Given the description of an element on the screen output the (x, y) to click on. 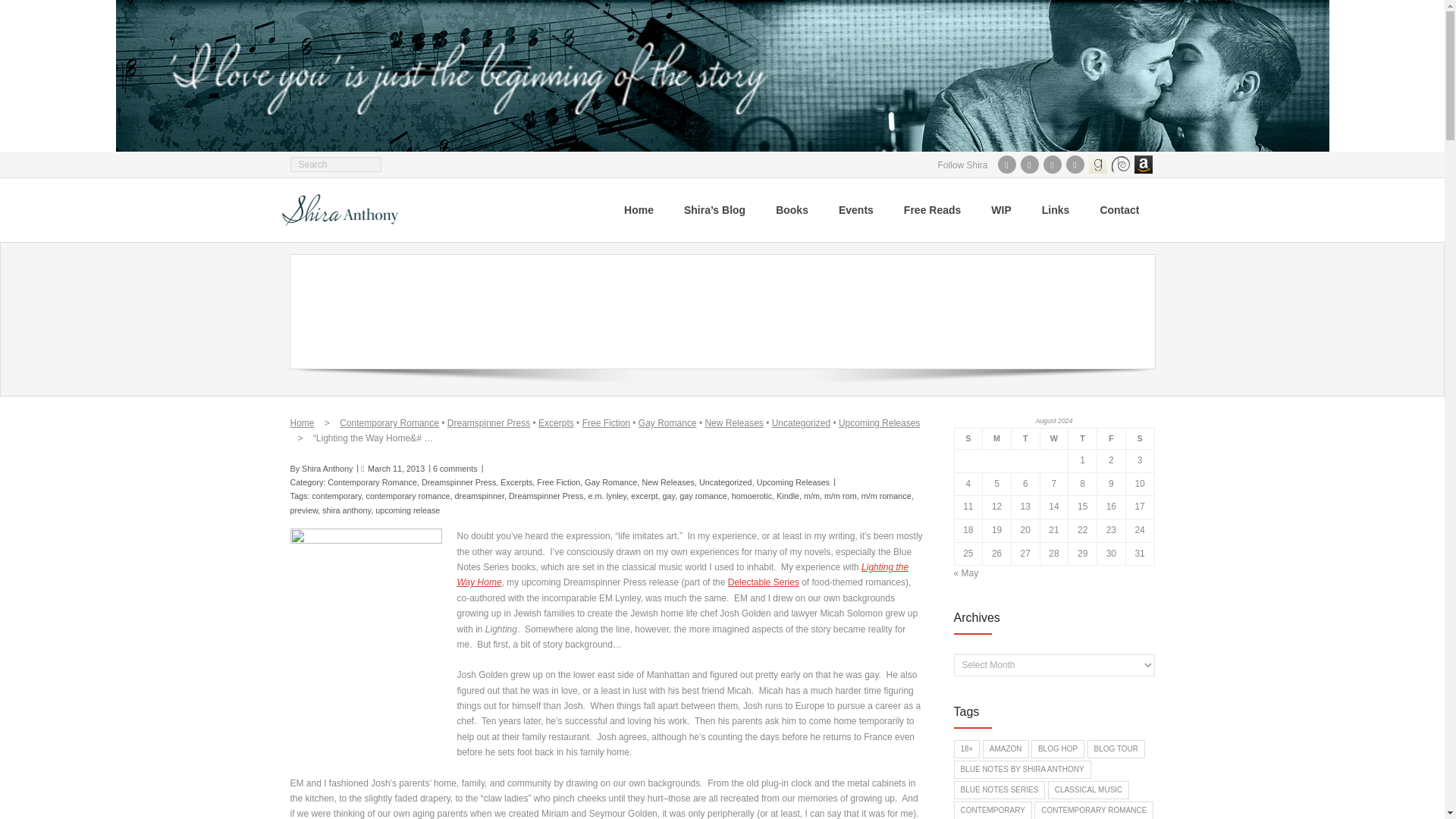
Contemporary Romance (371, 481)
Free Reads (931, 209)
Wednesday (1053, 437)
Tuesday (1024, 437)
Dreamspinner Press (487, 422)
Search (25, 10)
Links (1055, 209)
New Releases (733, 422)
Shira Anthony (326, 468)
Gay Romance (668, 422)
